Given the description of an element on the screen output the (x, y) to click on. 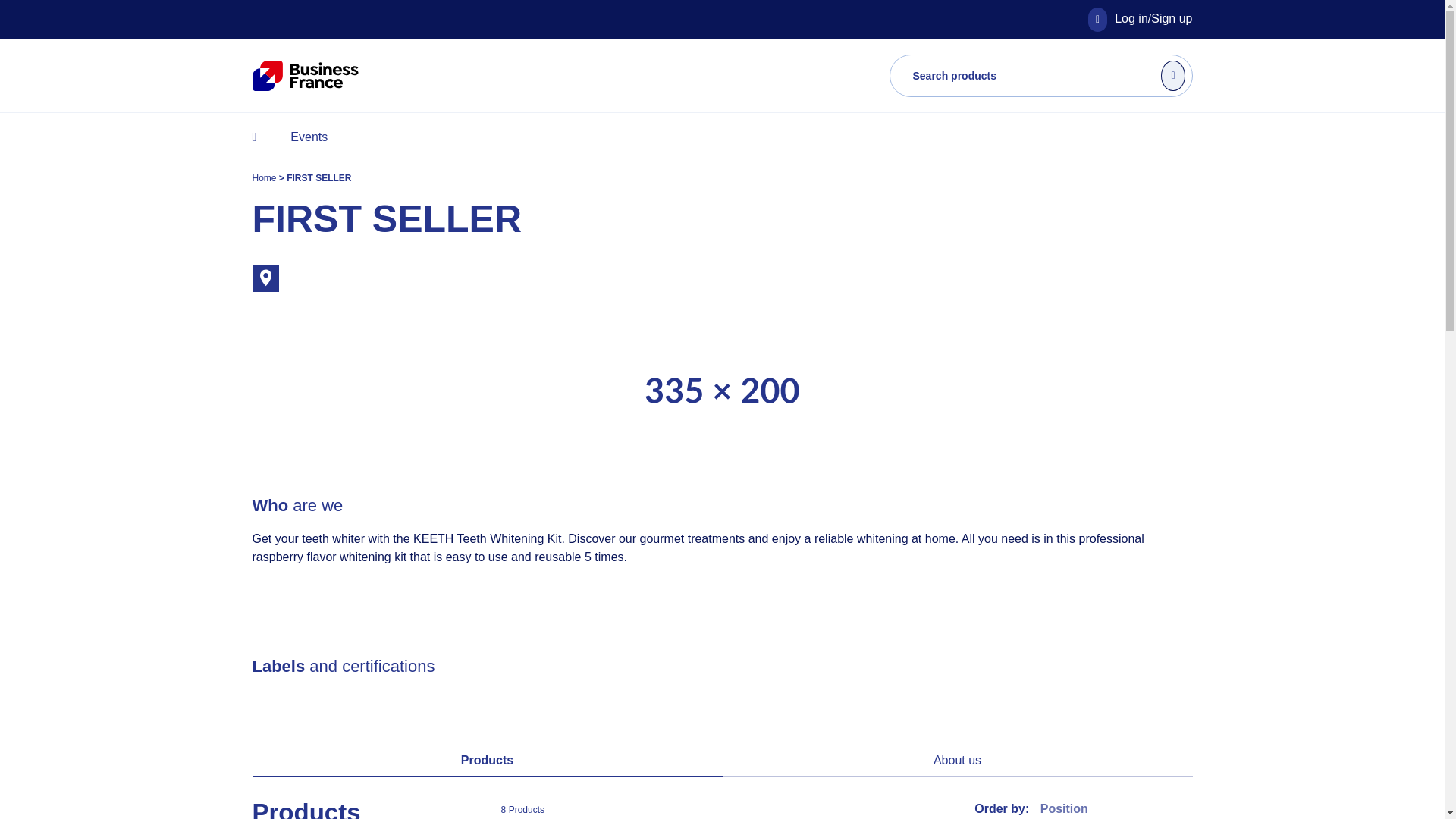
Home (264, 177)
About us (957, 759)
Home (264, 177)
Events (308, 136)
Products (487, 759)
